Given the description of an element on the screen output the (x, y) to click on. 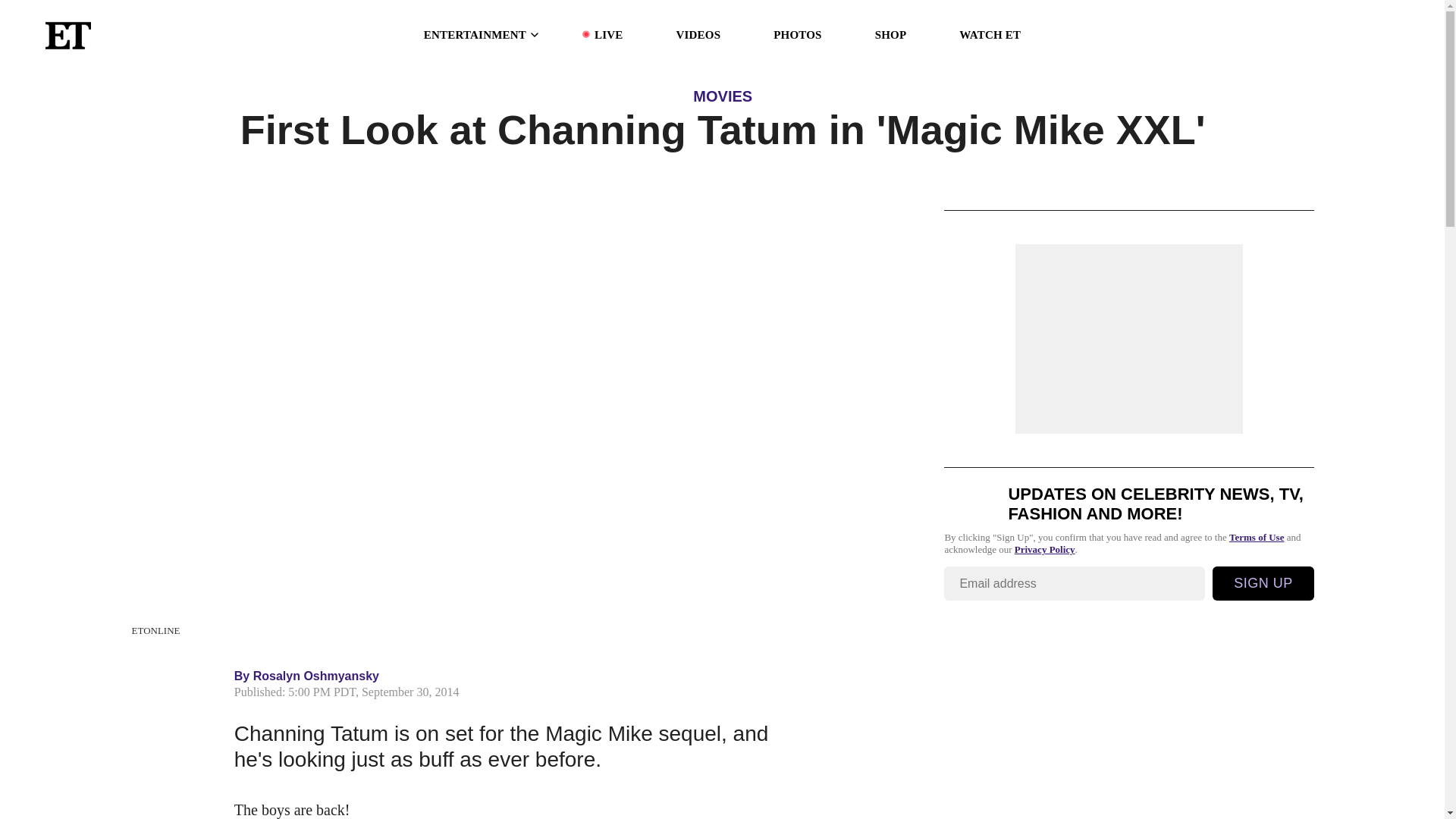
SIGN UP (1263, 583)
WATCH ET (989, 34)
VIDEOS (697, 34)
ENTERTAINMENT (482, 34)
SHOP (891, 34)
LIVE (608, 34)
Terms of Use (1256, 537)
PHOTOS (797, 34)
MOVIES (722, 95)
Privacy Policy (1044, 549)
